Given the description of an element on the screen output the (x, y) to click on. 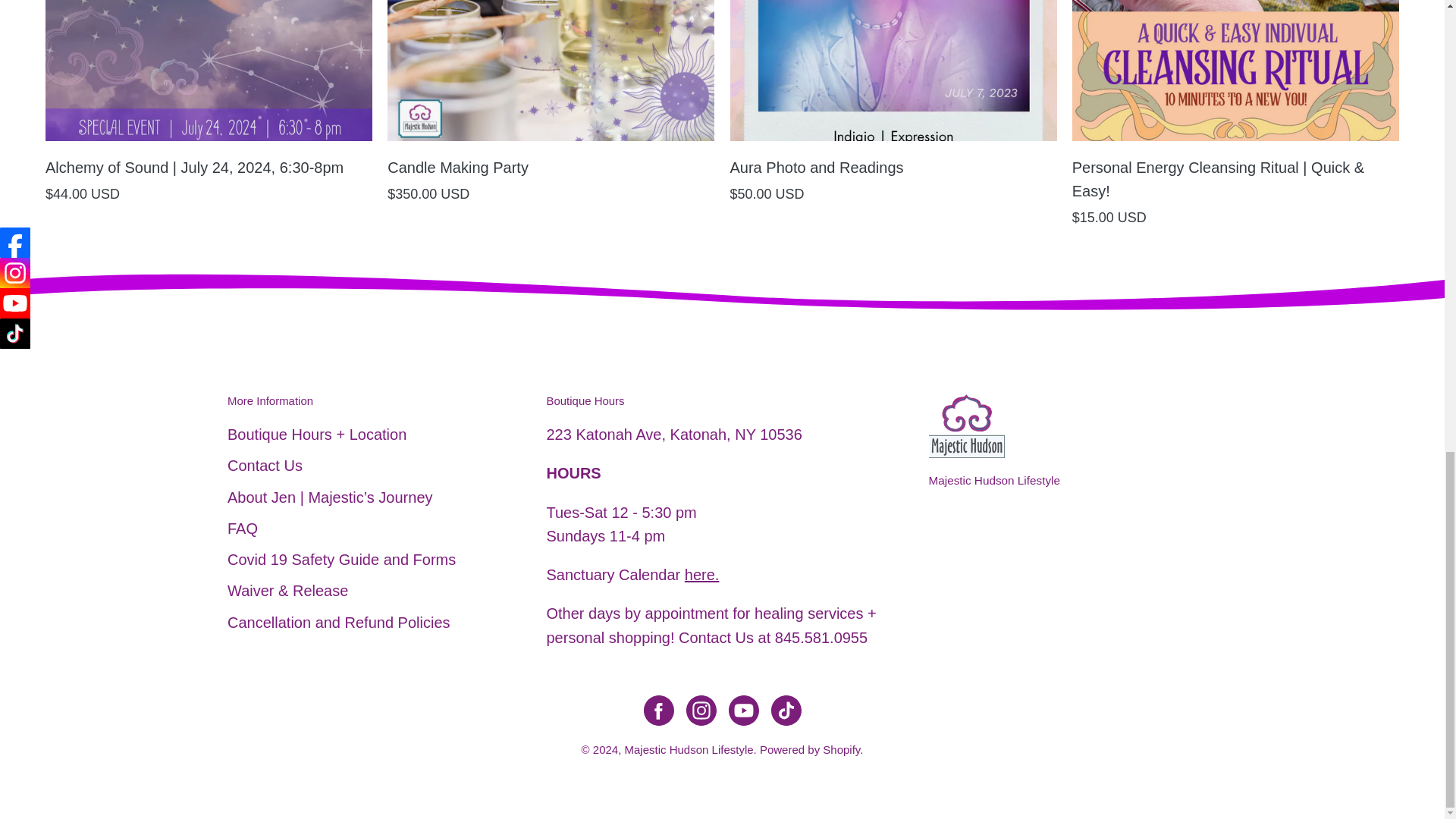
View Majestic Hudson Lifestyle on Facebook (657, 710)
View Majestic Hudson Lifestyle on Tiktok (785, 710)
View Majestic Hudson Lifestyle on Instagram (700, 710)
View Majestic Hudson Lifestyle on Youtube (743, 710)
